Given the description of an element on the screen output the (x, y) to click on. 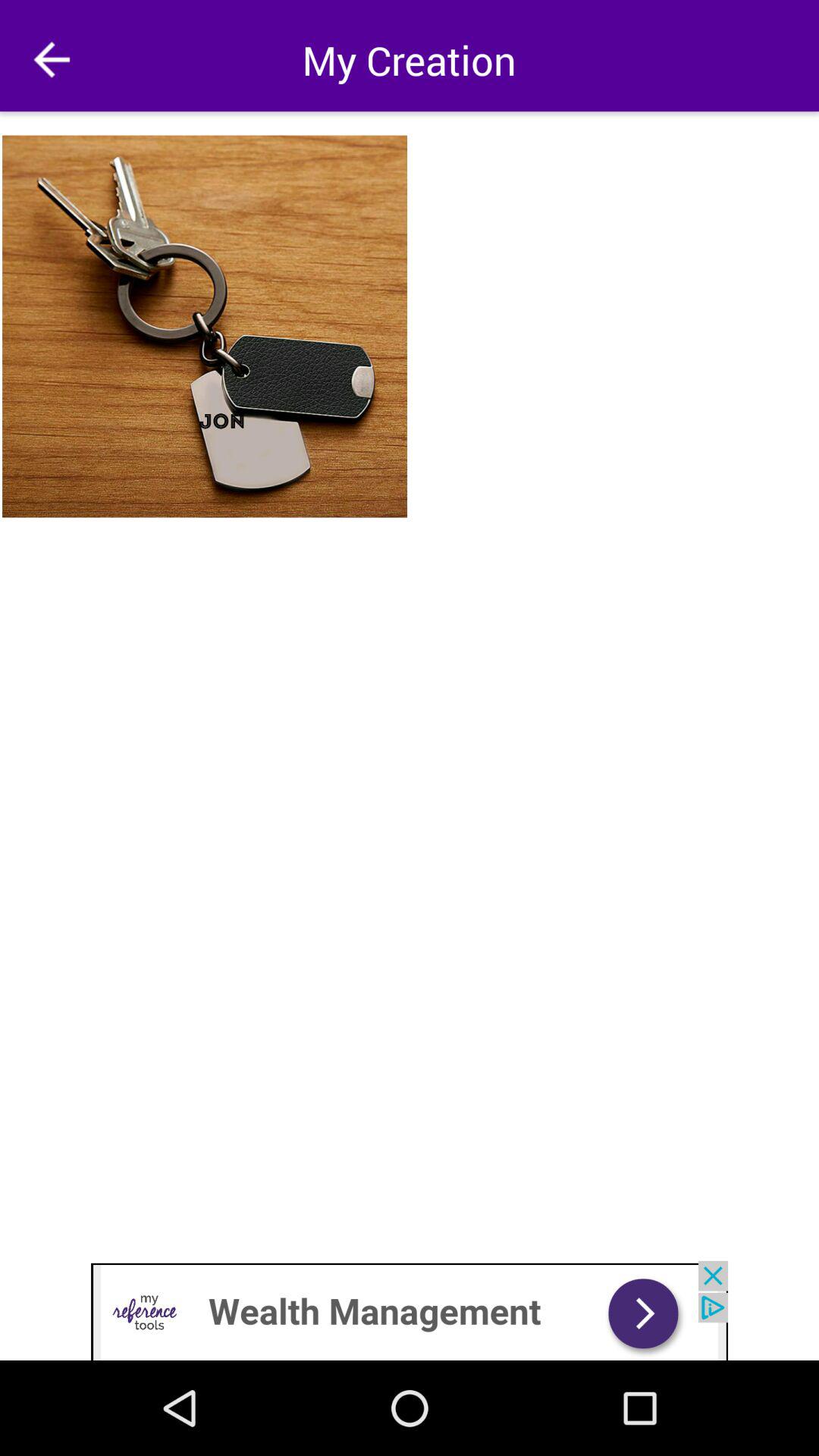
photo of keys (205, 326)
